Given the description of an element on the screen output the (x, y) to click on. 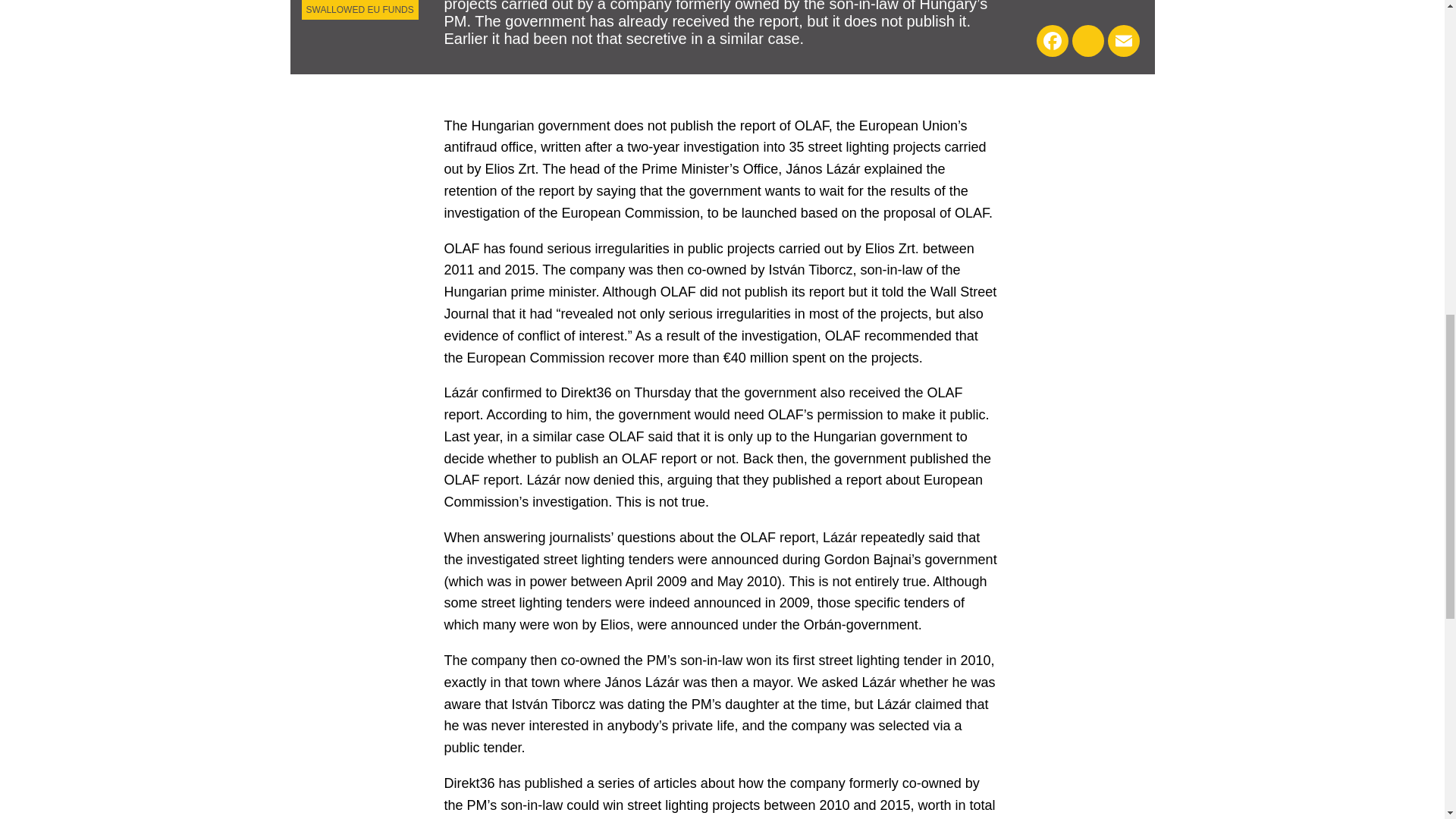
SWALLOWED EU FUNDS (360, 9)
Facebook (1051, 40)
Twitter (1087, 40)
Email (1122, 40)
